Given the description of an element on the screen output the (x, y) to click on. 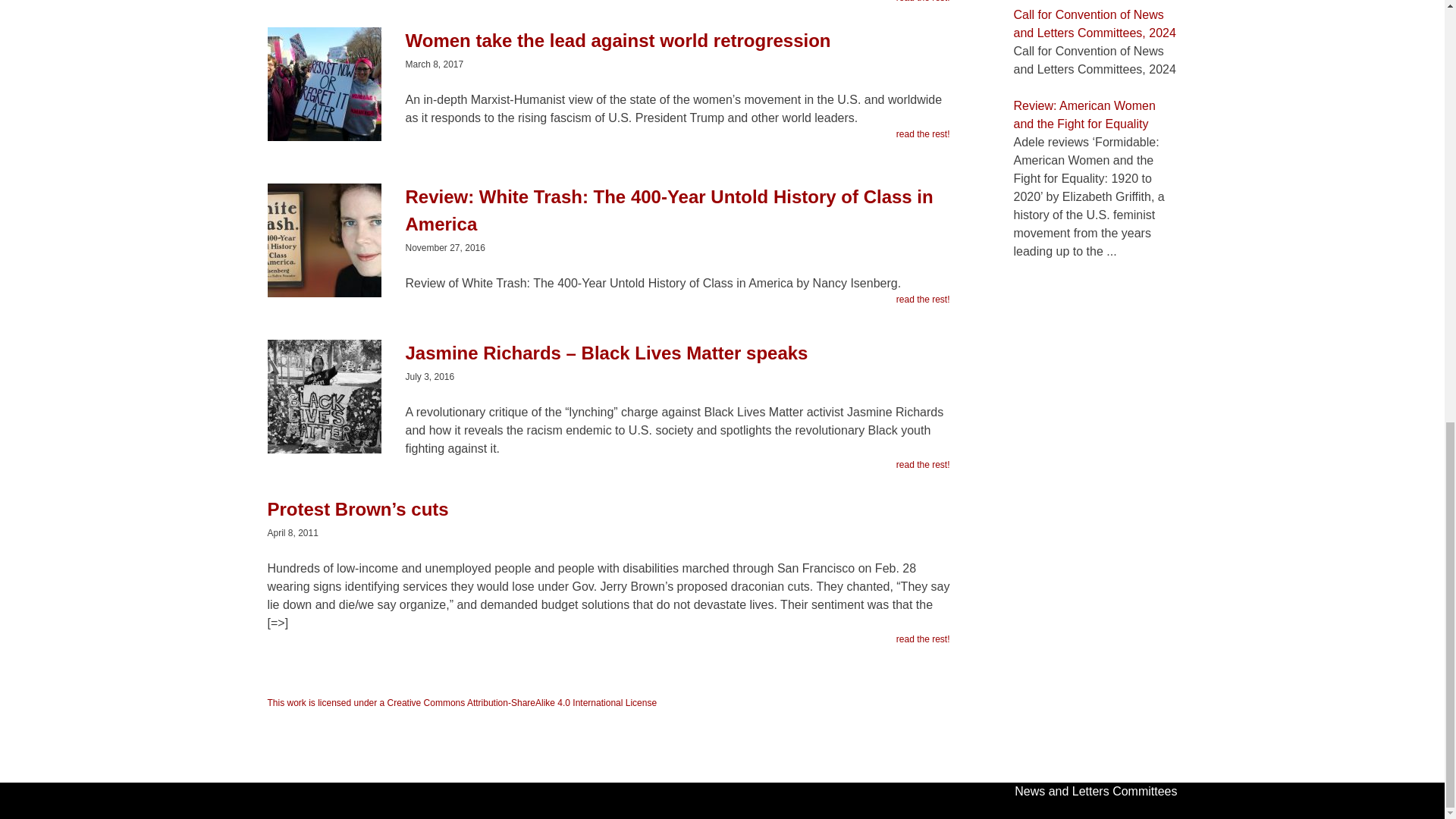
Call for Convention of News and Letters Committees, 2024 (1093, 23)
read the rest! (923, 299)
read the rest! (923, 639)
Review: American Women and the Fight for Equality (1083, 114)
Women take the lead against world retrogression (607, 48)
read the rest! (923, 2)
read the rest! (923, 464)
read the rest! (923, 133)
